Given the description of an element on the screen output the (x, y) to click on. 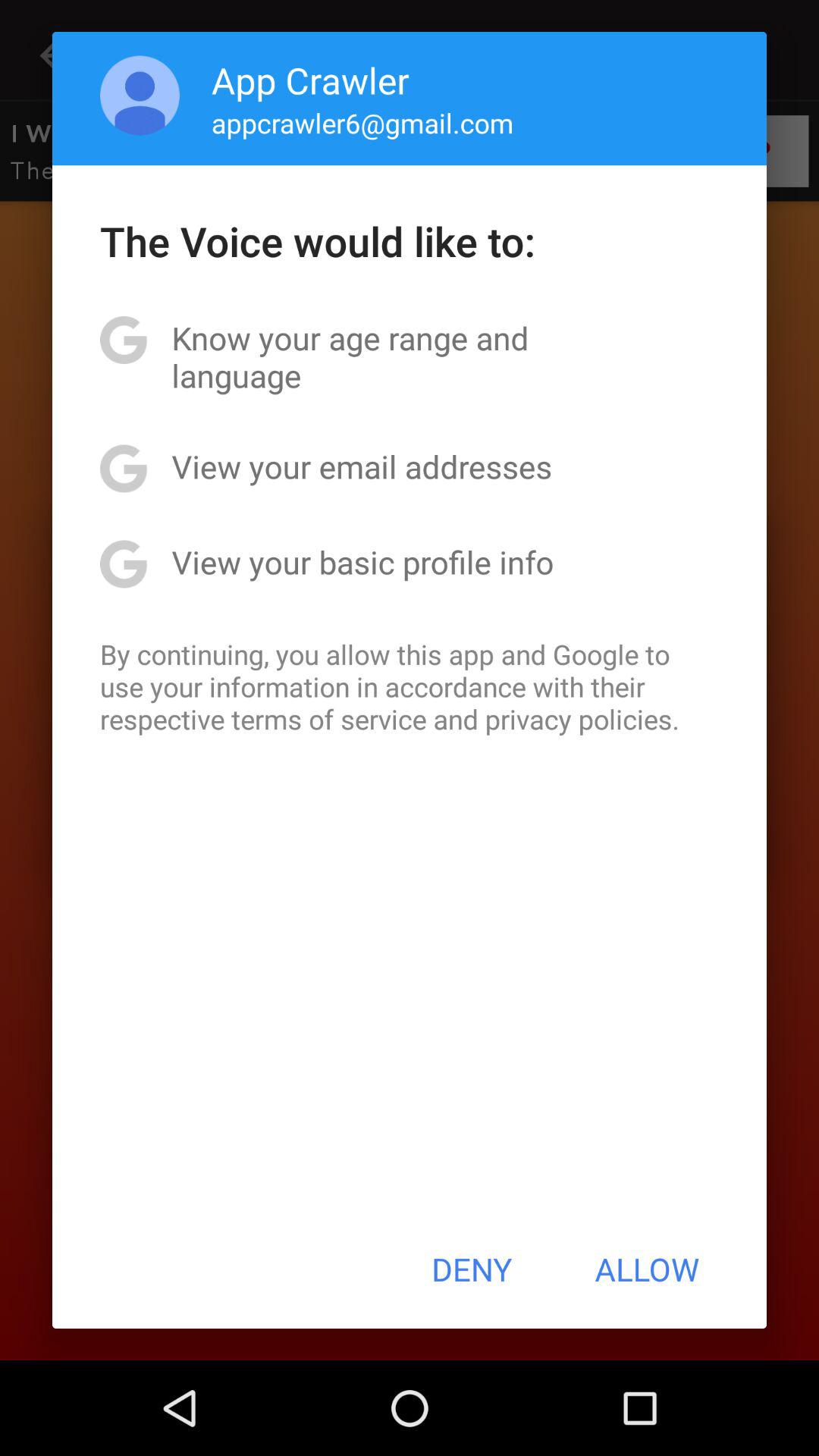
click deny (471, 1268)
